Given the description of an element on the screen output the (x, y) to click on. 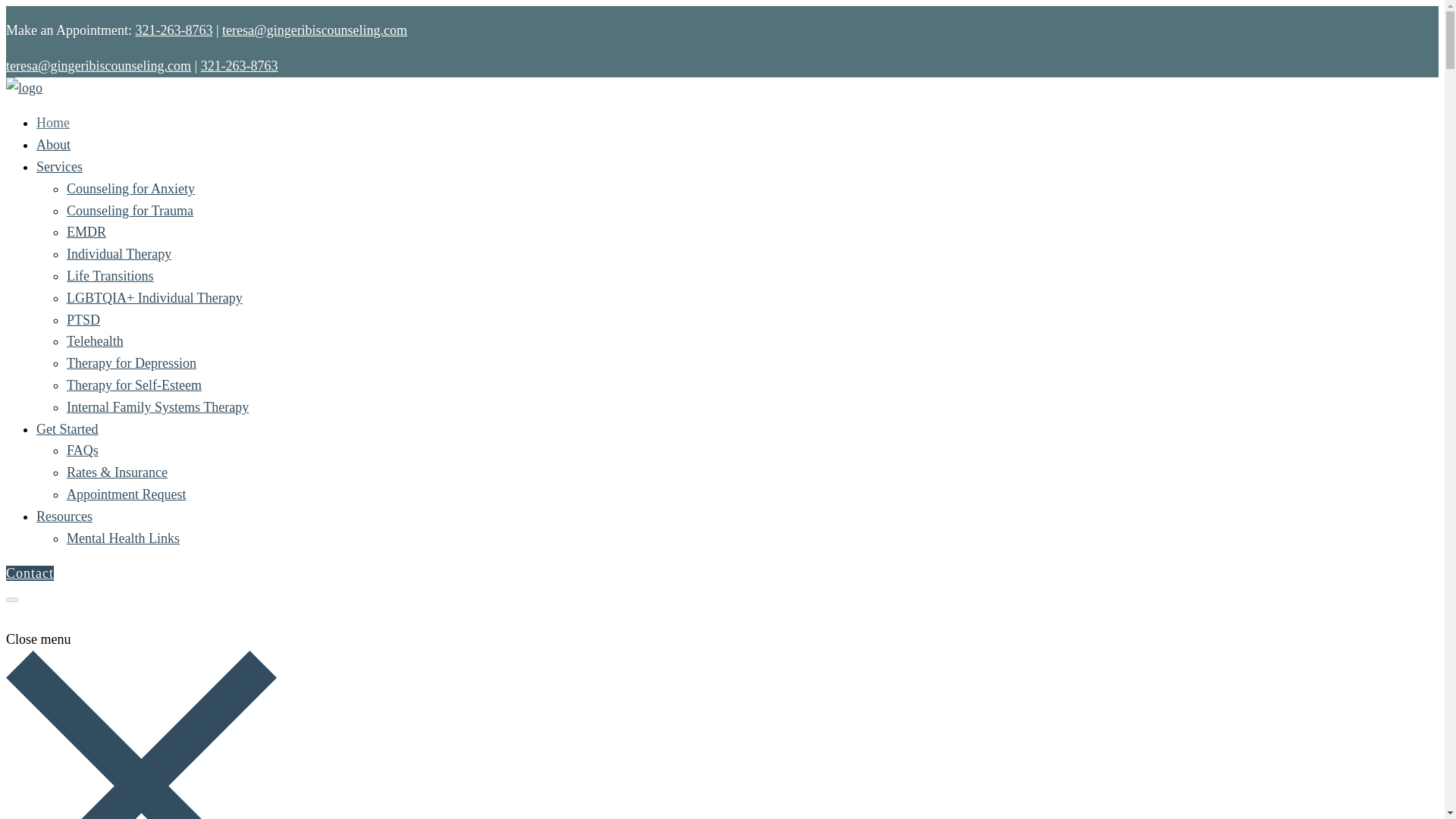
Therapy for Depression (131, 363)
Contact (29, 572)
Therapy for Self-Esteem (134, 385)
Appointment Request (126, 494)
Counseling for Anxiety (130, 188)
Counseling for Trauma (129, 210)
PTSD (83, 319)
EMDR (86, 231)
About (52, 144)
Life Transitions (110, 275)
Home (52, 122)
Telehealth (94, 340)
Get Started (66, 428)
FAQs (82, 450)
Resources (64, 516)
